Given the description of an element on the screen output the (x, y) to click on. 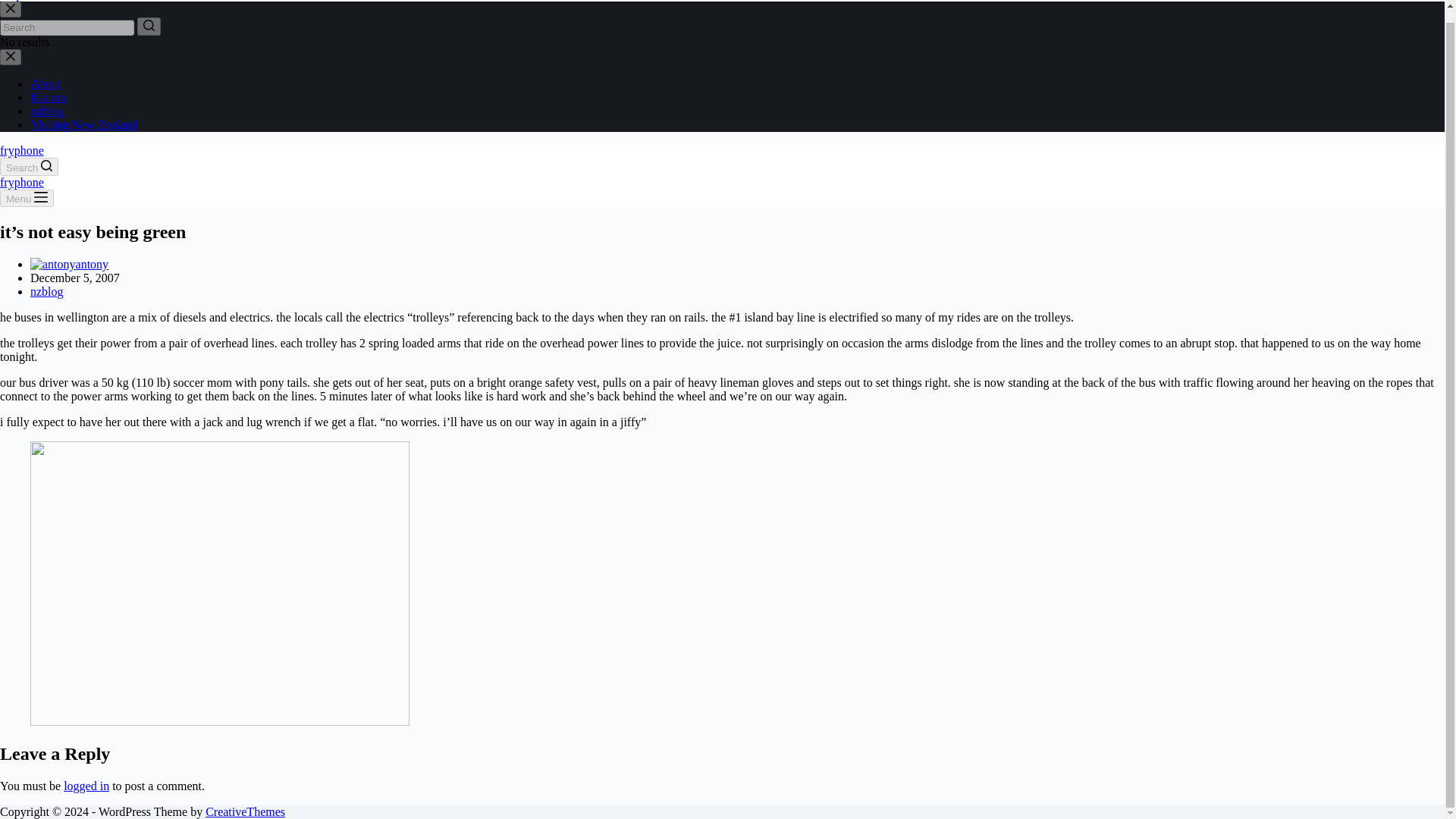
antony (92, 264)
Menu (26, 198)
nzblog (47, 110)
Posts by antony (92, 264)
logged in (86, 785)
fryphone (21, 150)
Search for... (66, 27)
nzblog (47, 291)
About (45, 83)
